Given the description of an element on the screen output the (x, y) to click on. 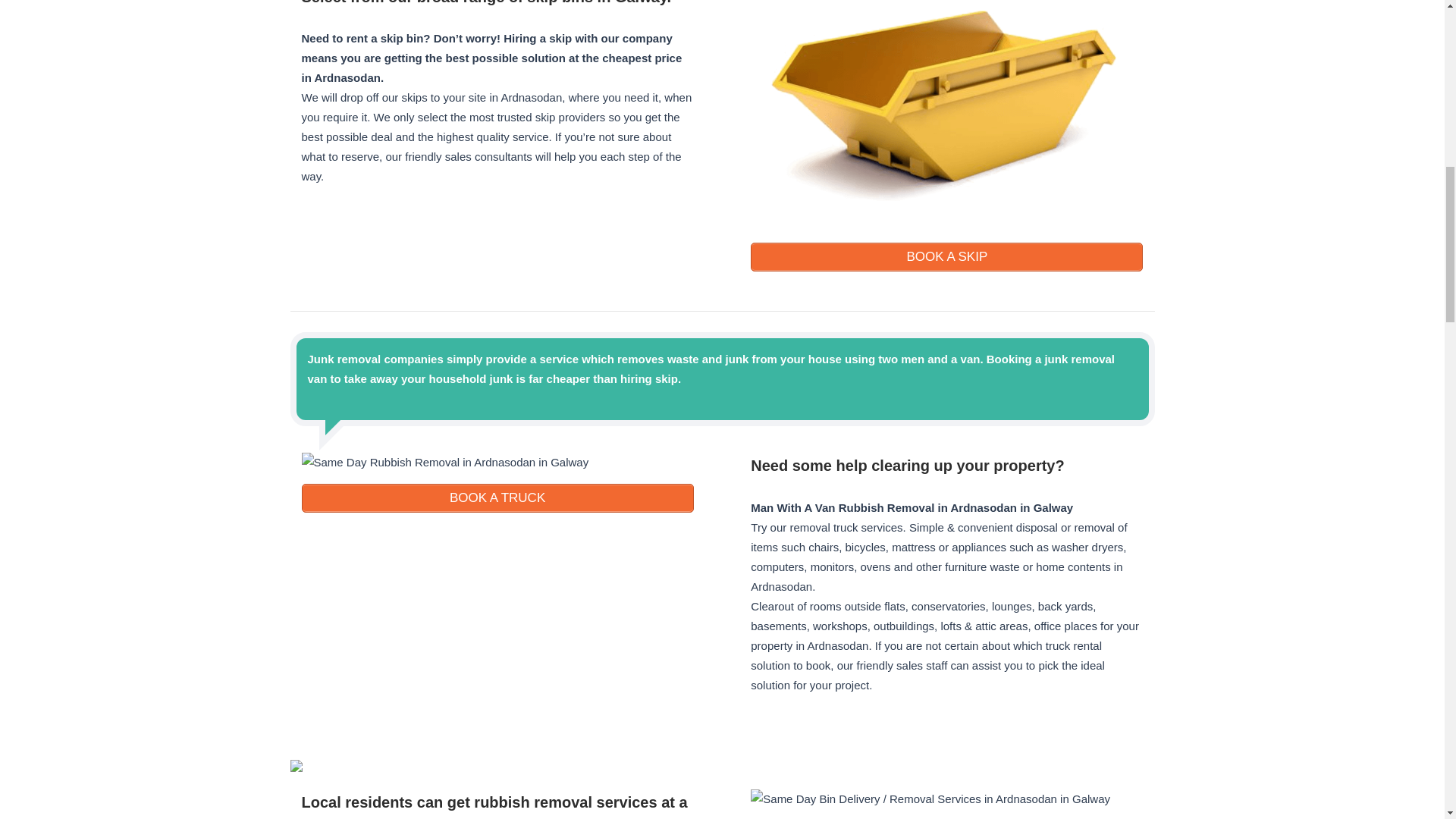
BOOK A SKIP (946, 256)
BOOK A TRUCK (497, 498)
BOOK A TRUCK (497, 498)
Man with a van near me in Ardnasodan (946, 465)
LEARN MORE (946, 256)
